Given the description of an element on the screen output the (x, y) to click on. 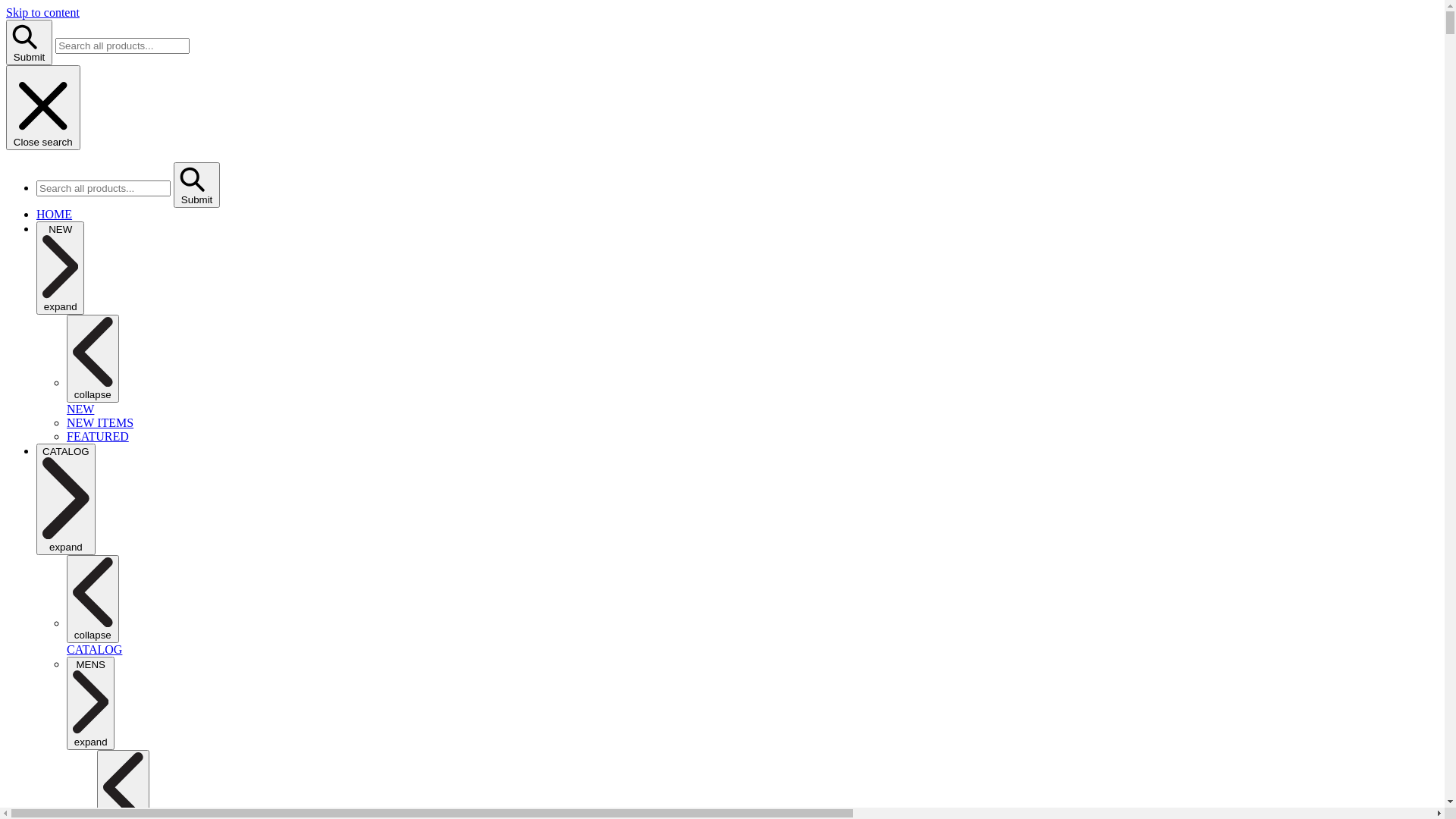
Submit Element type: text (196, 184)
CATALOG Element type: text (94, 649)
HOME Element type: text (54, 213)
Close search Element type: text (43, 107)
Skip to content Element type: text (42, 12)
NEW ITEMS Element type: text (99, 422)
NEW Element type: text (80, 408)
FEATURED Element type: text (97, 435)
Submit Element type: text (29, 42)
